Given the description of an element on the screen output the (x, y) to click on. 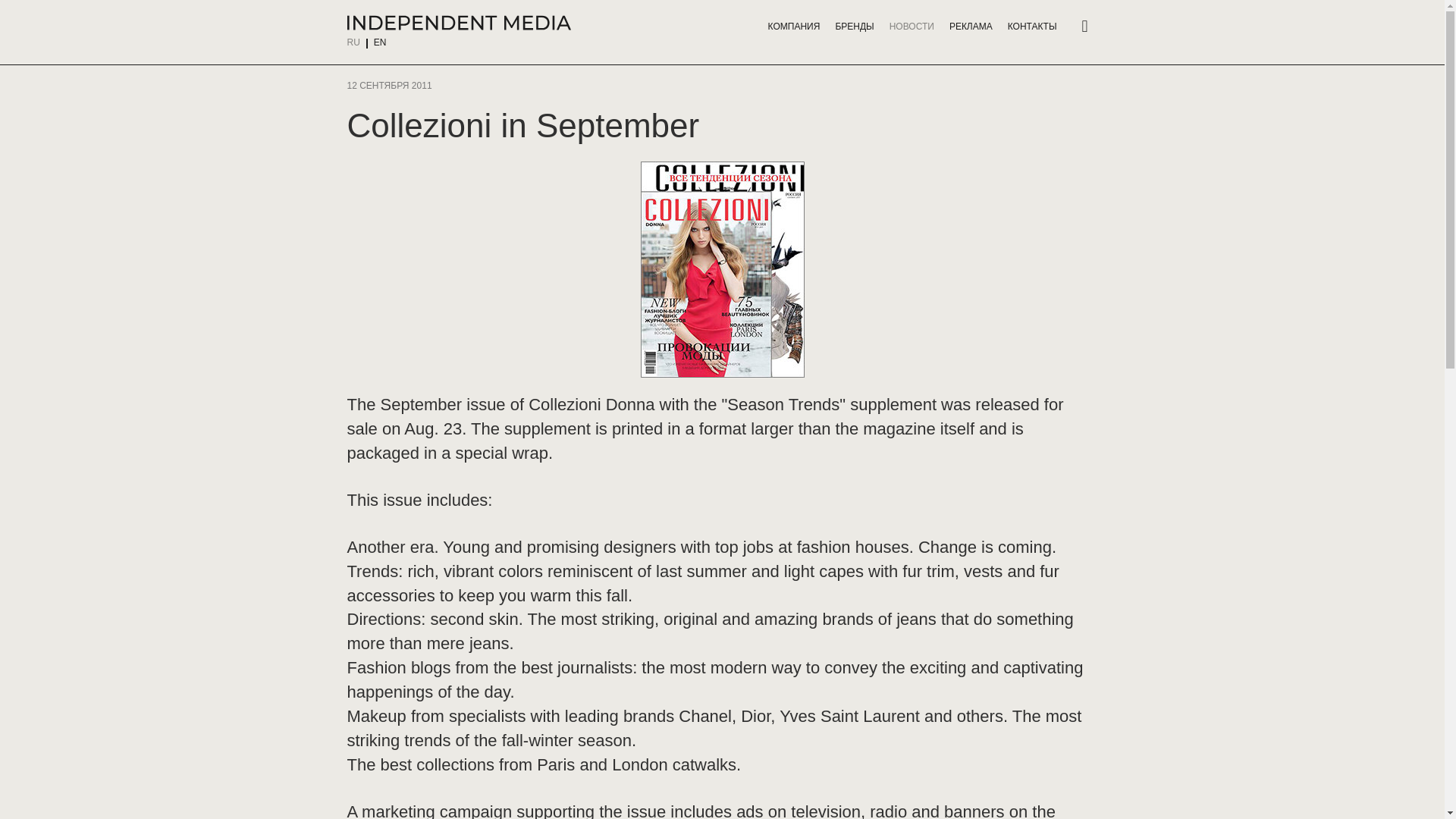
Independent Media (458, 22)
EN (380, 42)
